Given the description of an element on the screen output the (x, y) to click on. 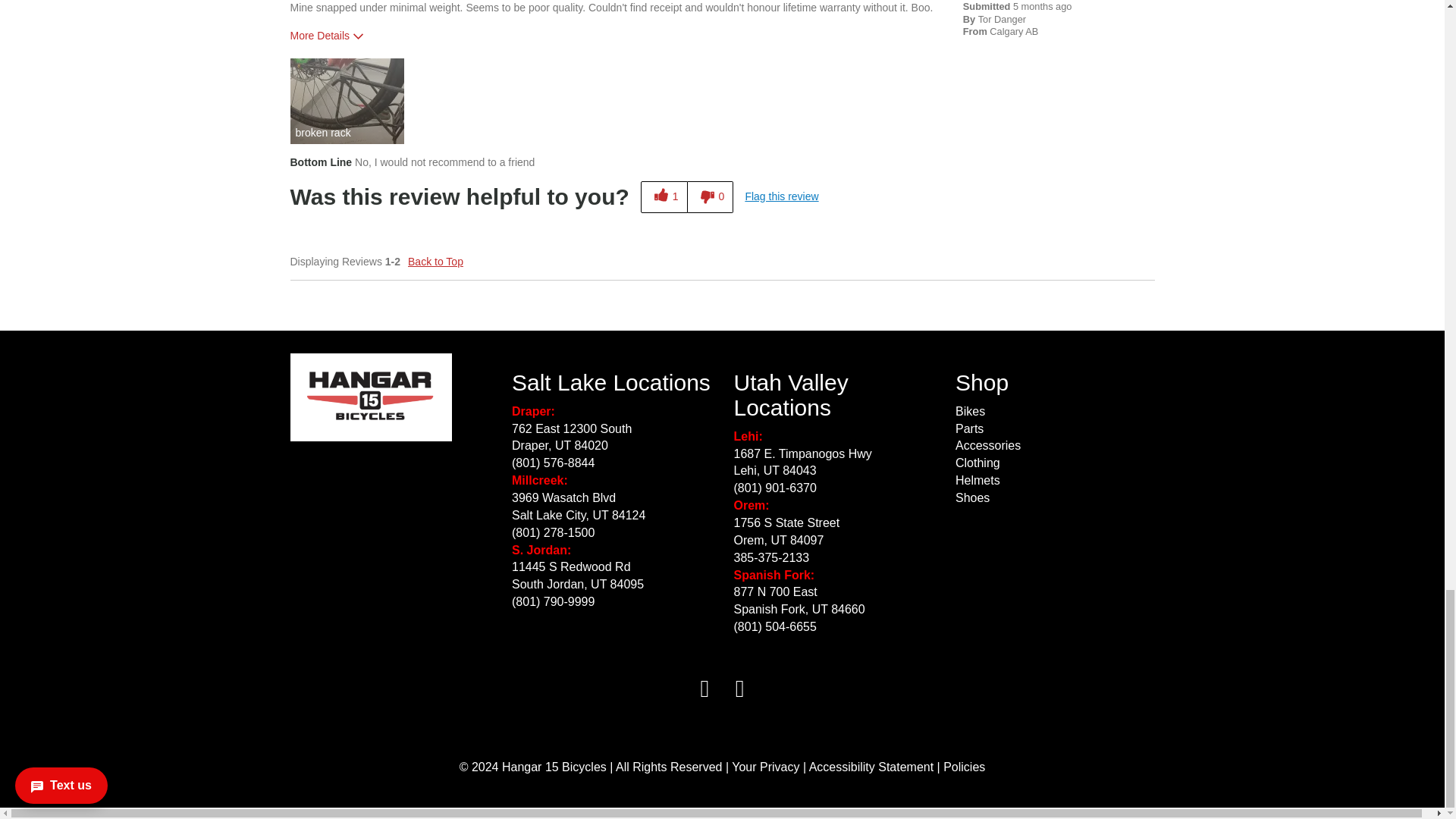
Hangar 15 Bicycles - Mill Creek (553, 532)
Hangar 15 Bicycles - Lehi (771, 557)
Hangar 15 Bicycles - Lehi (774, 626)
Hangar 15 Bicycles - Lehi (774, 487)
Hangar 15 Bicycles - Mill Creek (553, 601)
